Given the description of an element on the screen output the (x, y) to click on. 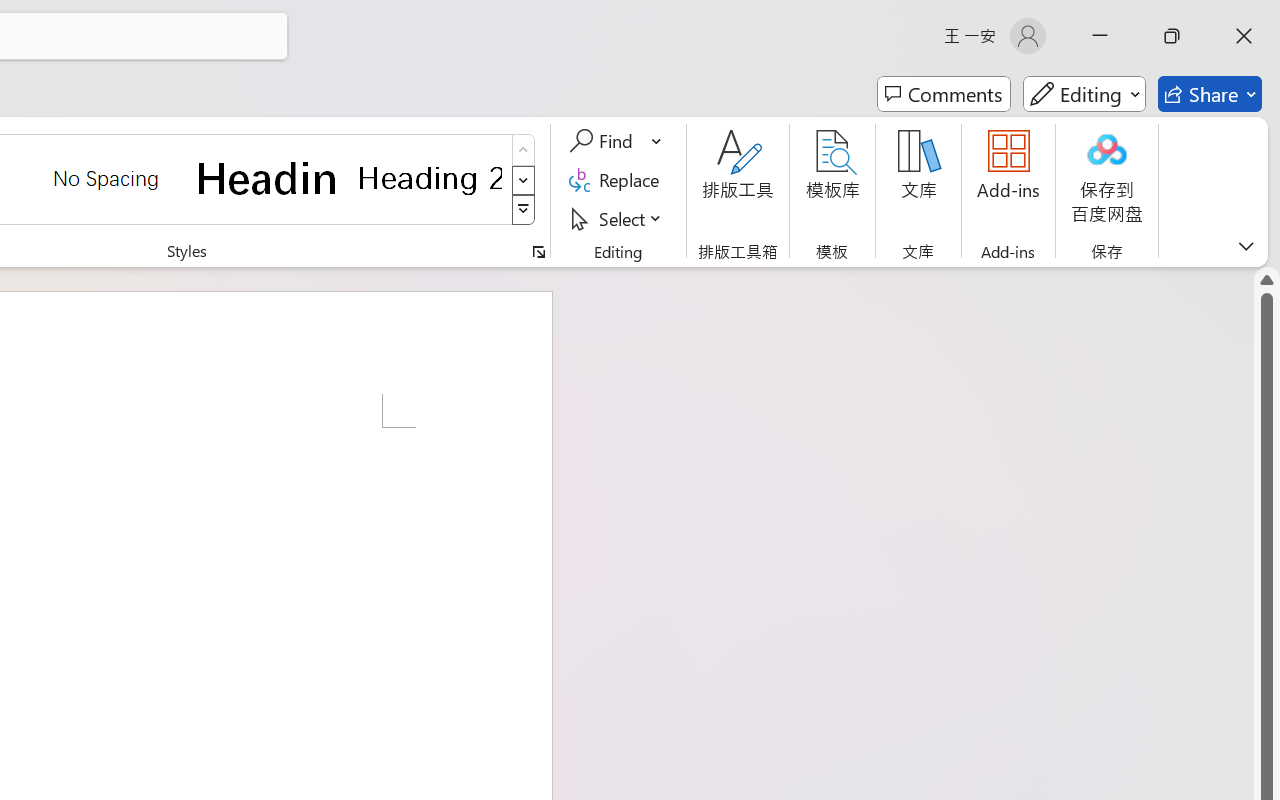
Replace... (617, 179)
Line up (1267, 279)
Heading 1 (267, 178)
